Given the description of an element on the screen output the (x, y) to click on. 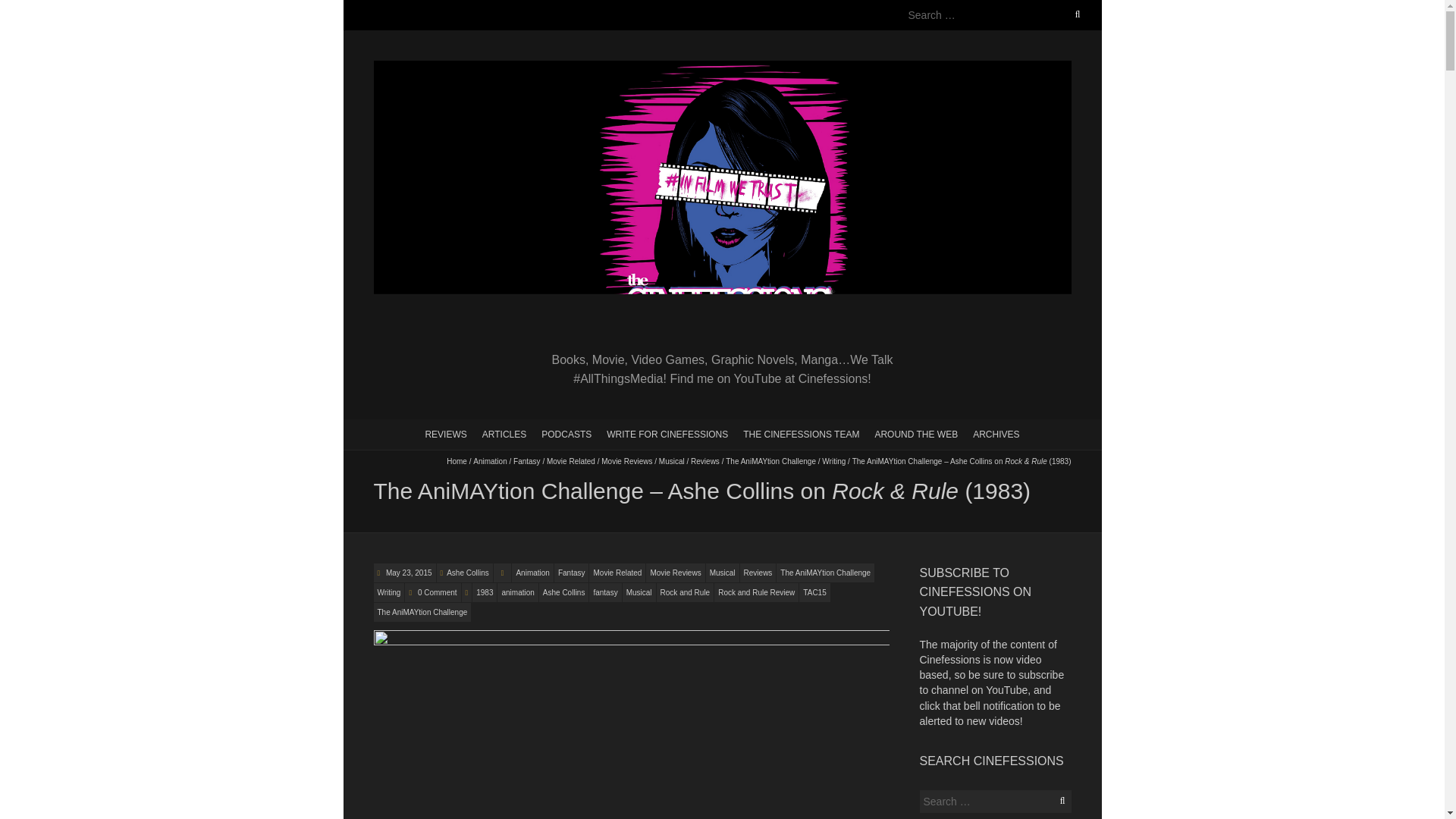
ARCHIVES (995, 433)
THE CINEFESSIONS TEAM (800, 433)
Search (28, 9)
Cinefessions (721, 68)
PODCASTS (566, 433)
View all posts by Ashe Collins (467, 572)
ARTICLES (504, 433)
WRITE FOR CINEFESSIONS (666, 433)
Follow Cinefessions Around the Web (915, 433)
REVIEWS (445, 433)
